Given the description of an element on the screen output the (x, y) to click on. 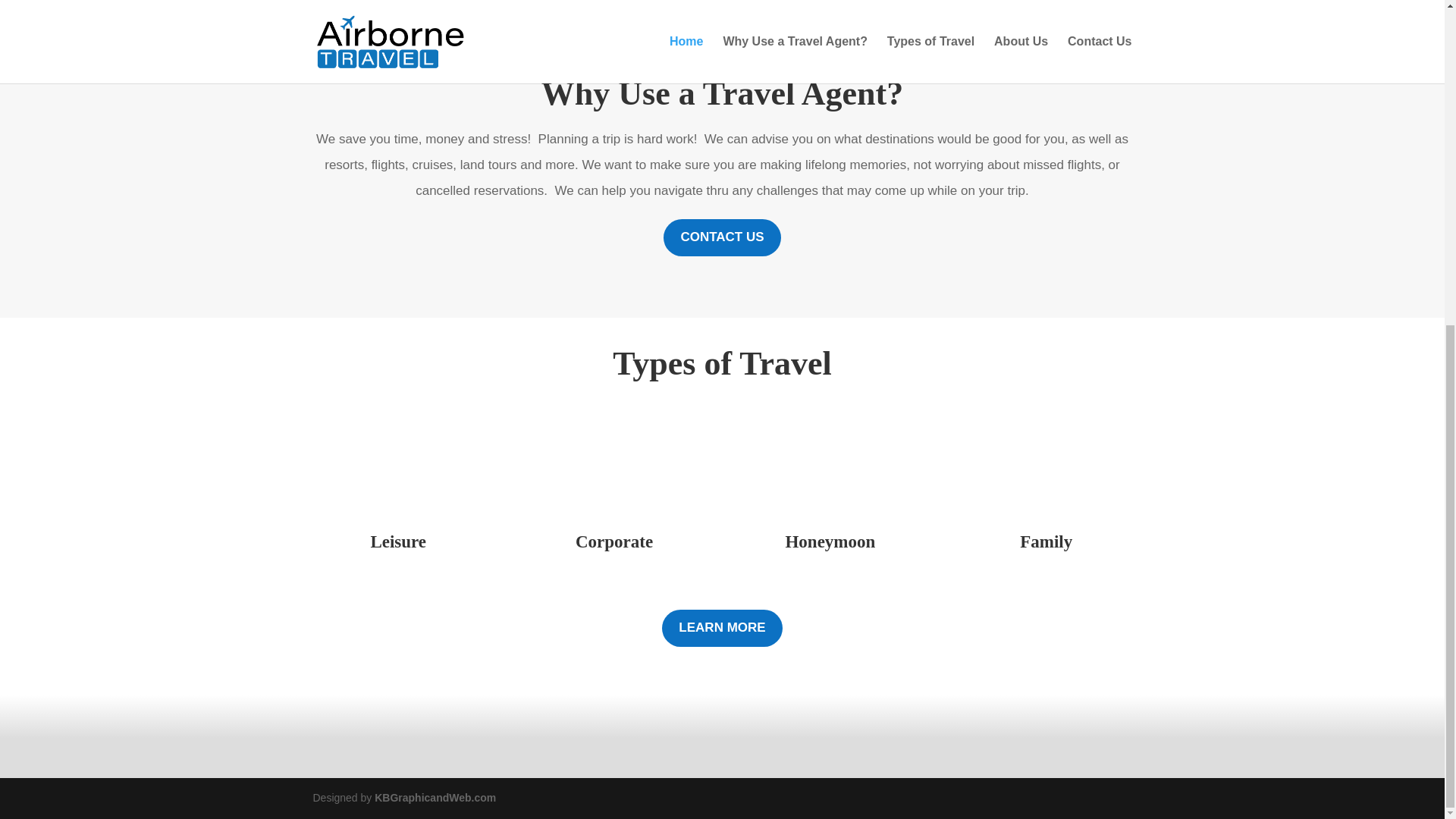
CONTACT US (721, 237)
LEARN MORE (721, 628)
KBGraphicandWeb.com (435, 797)
